Given the description of an element on the screen output the (x, y) to click on. 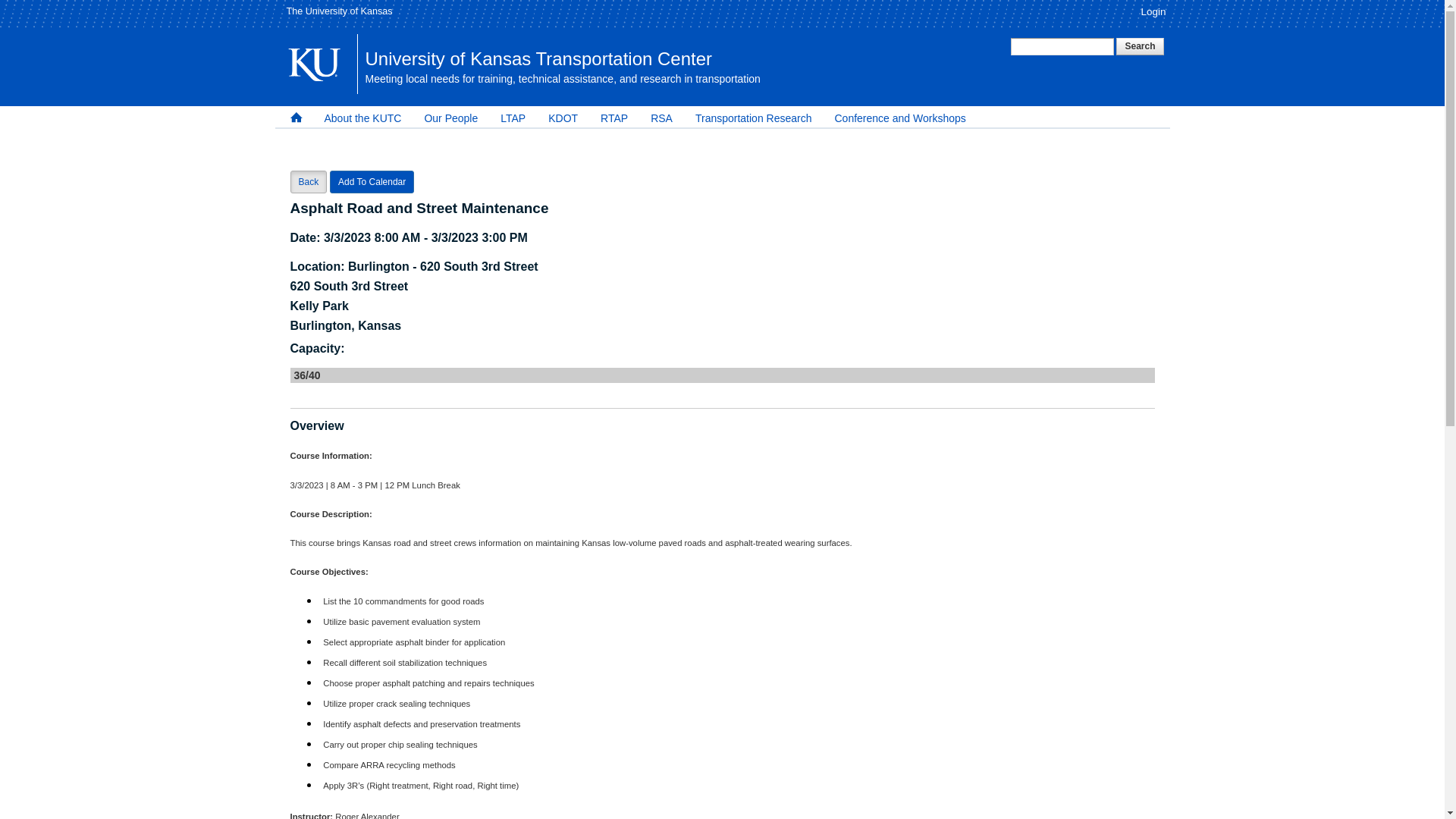
Login (1153, 11)
Search (1139, 46)
The University of Kansas (339, 10)
Skip to main content (691, 1)
